Given the description of an element on the screen output the (x, y) to click on. 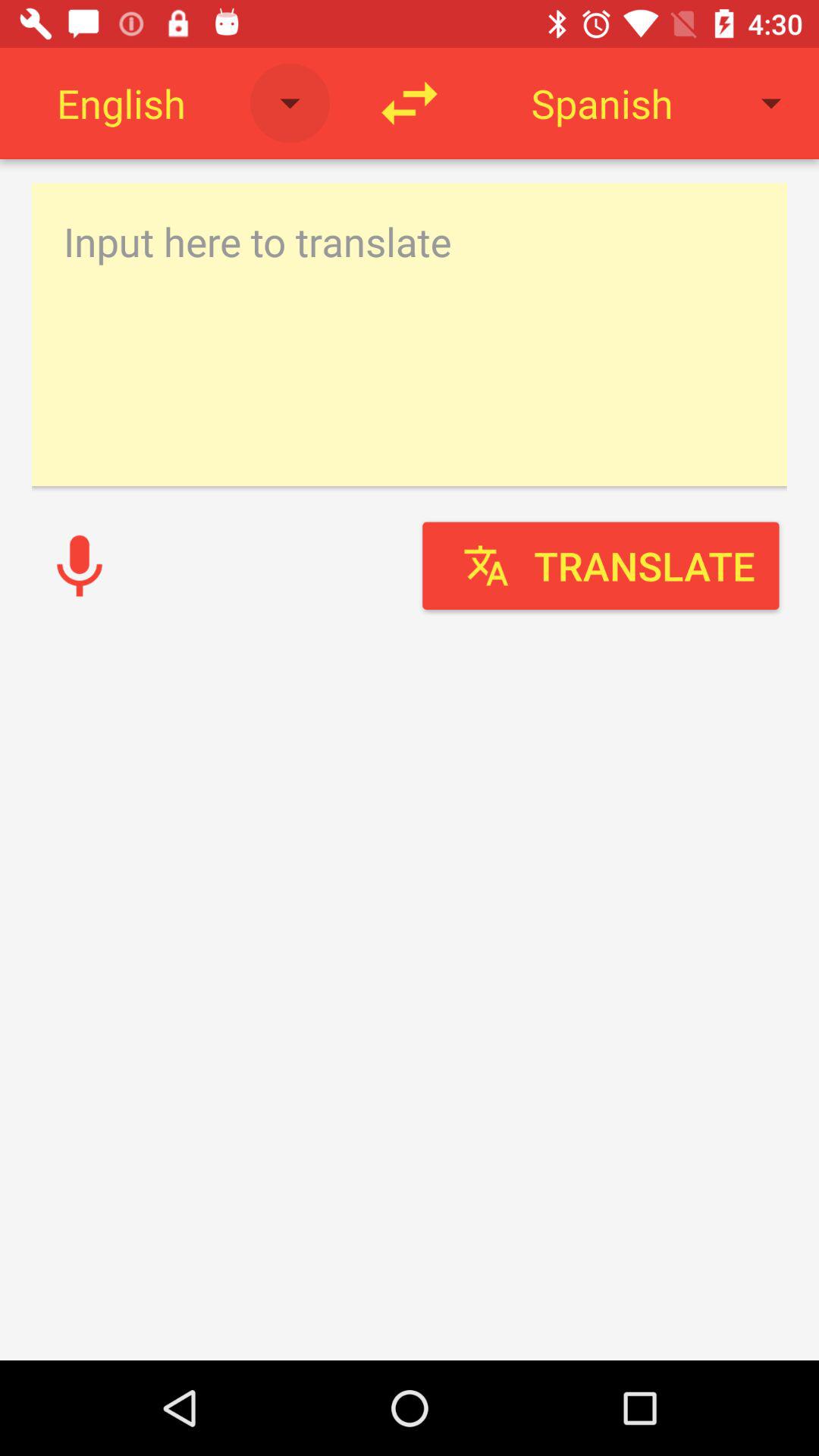
toggle switch to from (409, 103)
